Given the description of an element on the screen output the (x, y) to click on. 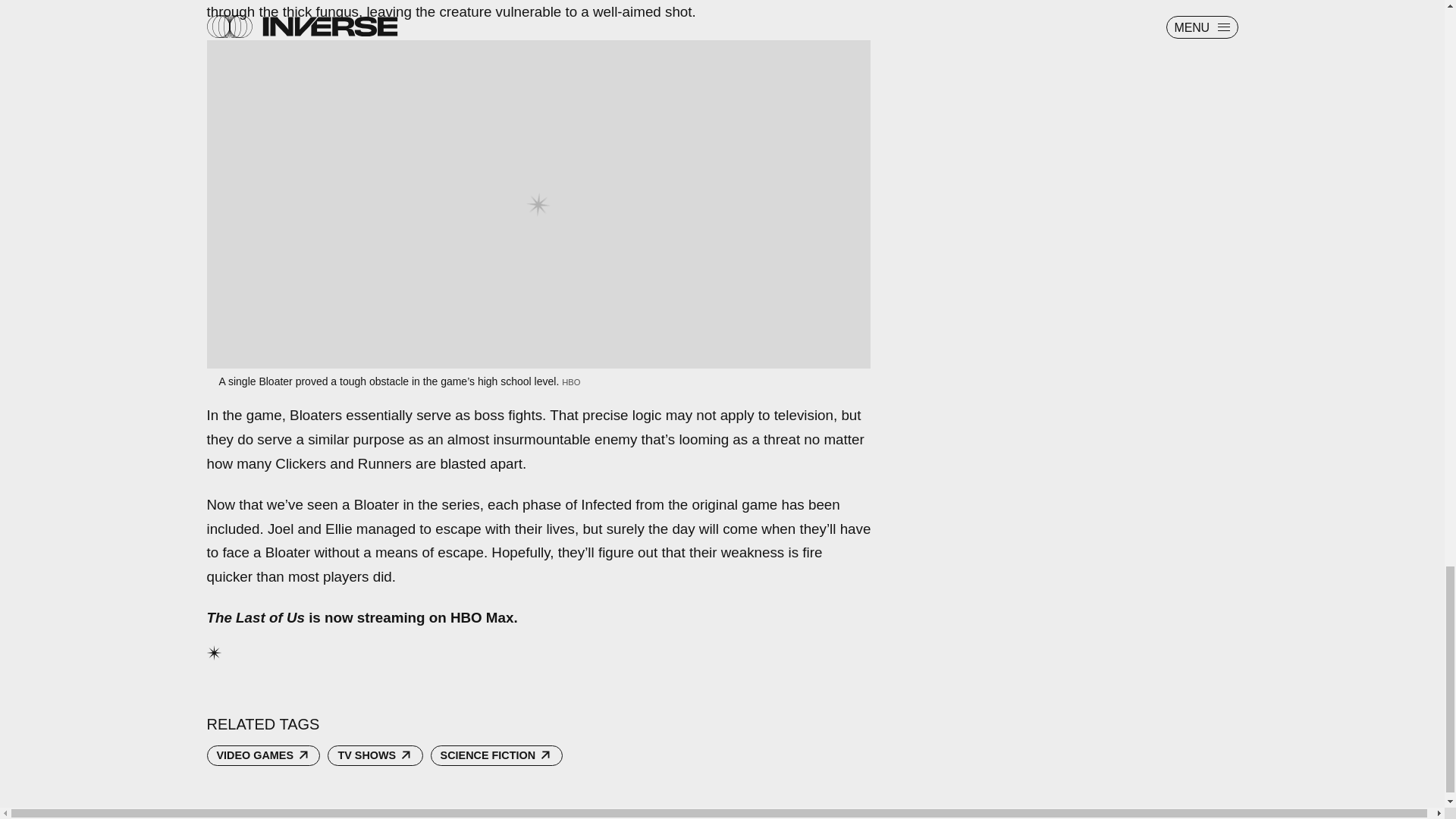
VIDEO GAMES (263, 754)
SCIENCE FICTION (496, 754)
TV SHOWS (374, 754)
